Given the description of an element on the screen output the (x, y) to click on. 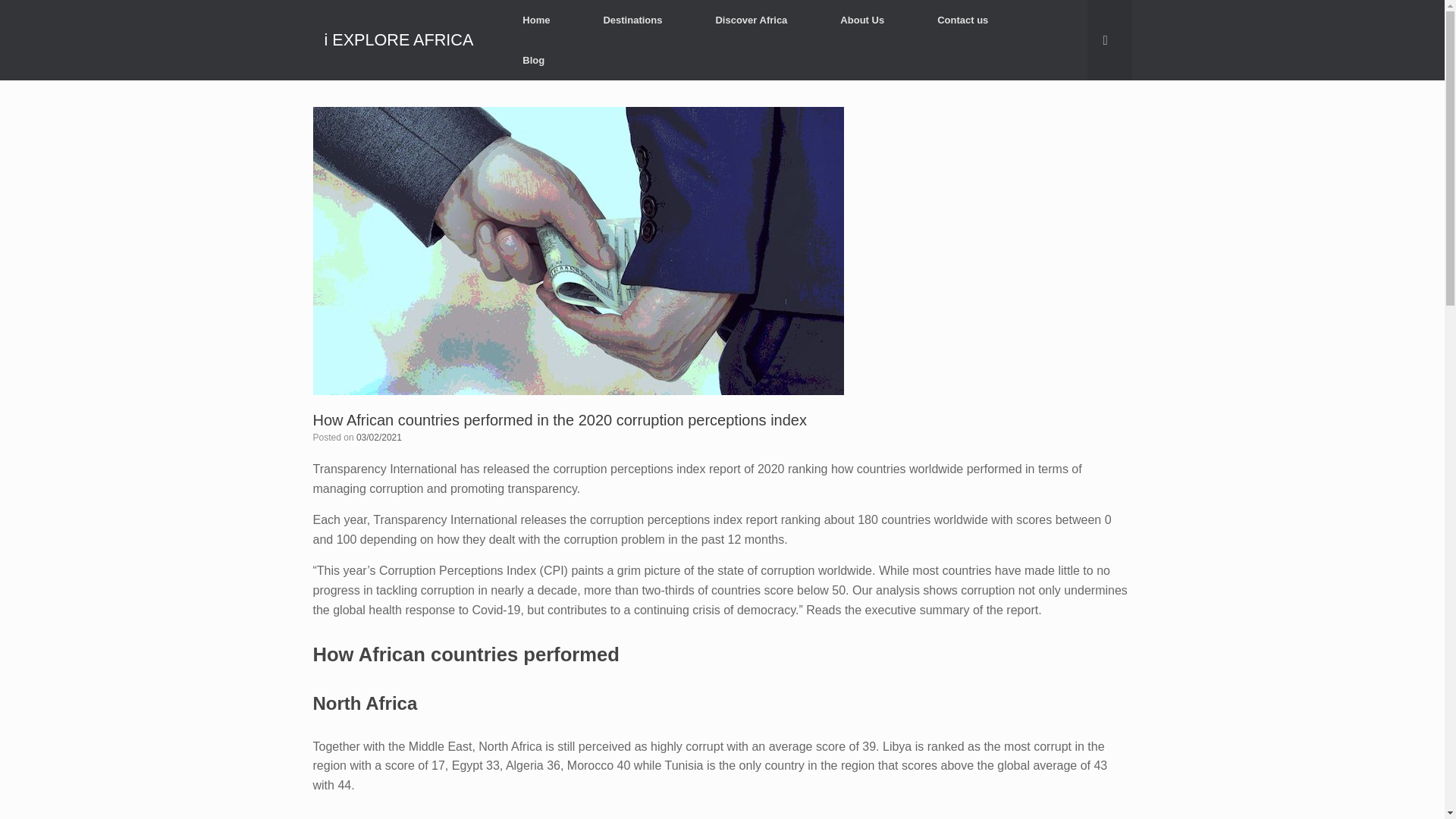
About Us (862, 20)
i EXPLORE AFRICA (398, 40)
Home (536, 20)
Contact us (962, 20)
i EXPLORE AFRICA (398, 40)
Discover Africa (750, 20)
Blog (533, 60)
Destinations (632, 20)
15:04 (378, 437)
